Given the description of an element on the screen output the (x, y) to click on. 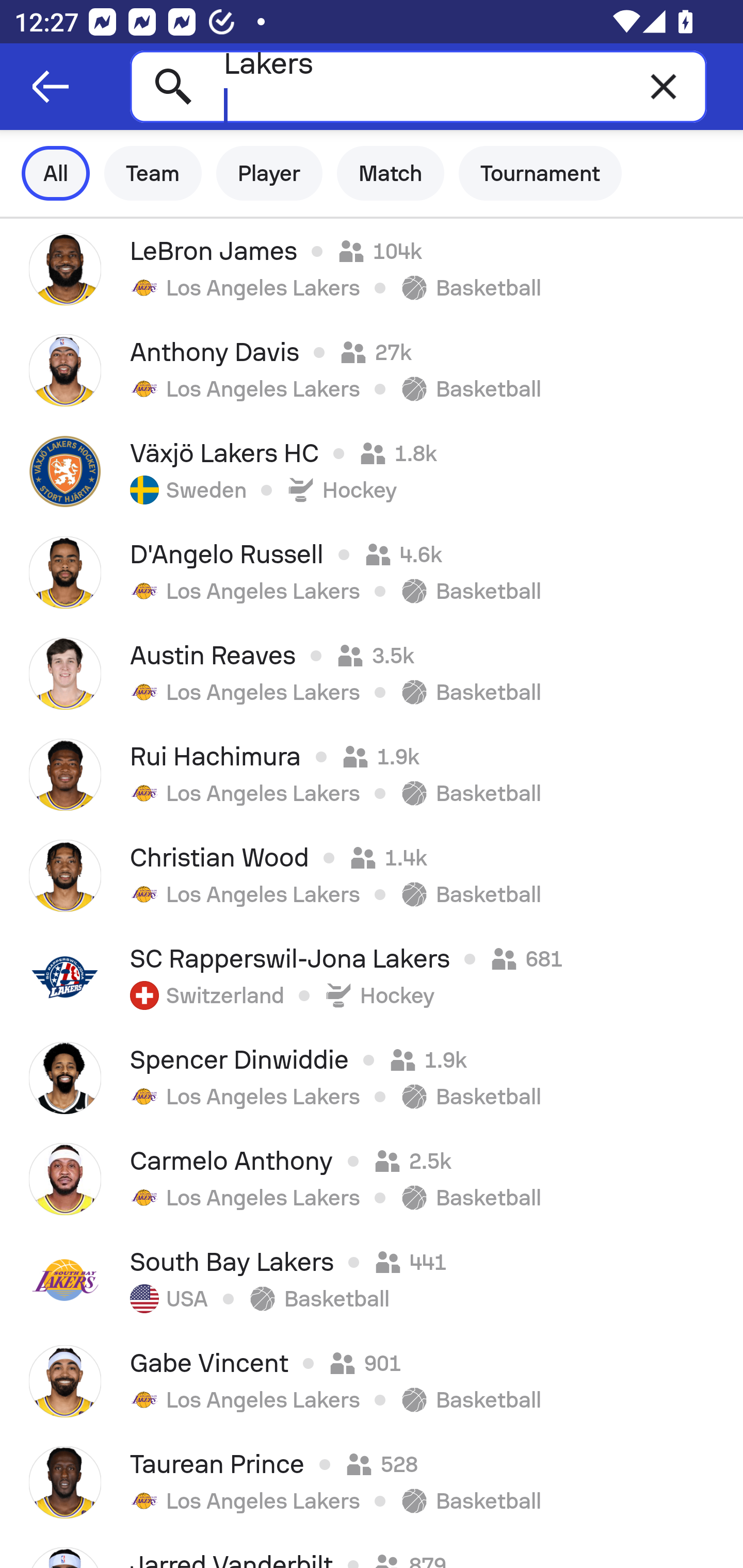
Navigate up (50, 86)
Lakers
 (418, 86)
Clear text (663, 86)
All (55, 172)
Team (152, 172)
Player (268, 172)
Match (390, 172)
Tournament (540, 172)
LeBron James 104k Los Angeles Lakers Basketball (371, 268)
Anthony Davis 27k Los Angeles Lakers Basketball (371, 369)
Växjö Lakers HC 1.8k Sweden Hockey (371, 471)
Austin Reaves 3.5k Los Angeles Lakers Basketball (371, 673)
Rui Hachimura 1.9k Los Angeles Lakers Basketball (371, 774)
Christian Wood 1.4k Los Angeles Lakers Basketball (371, 875)
SC Rapperswil-Jona Lakers 681 Switzerland Hockey (371, 976)
Carmelo Anthony 2.5k Los Angeles Lakers Basketball (371, 1178)
South Bay Lakers 441 USA Basketball (371, 1280)
Gabe Vincent 901 Los Angeles Lakers Basketball (371, 1381)
Taurean Prince 528 Los Angeles Lakers Basketball (371, 1482)
